Given the description of an element on the screen output the (x, y) to click on. 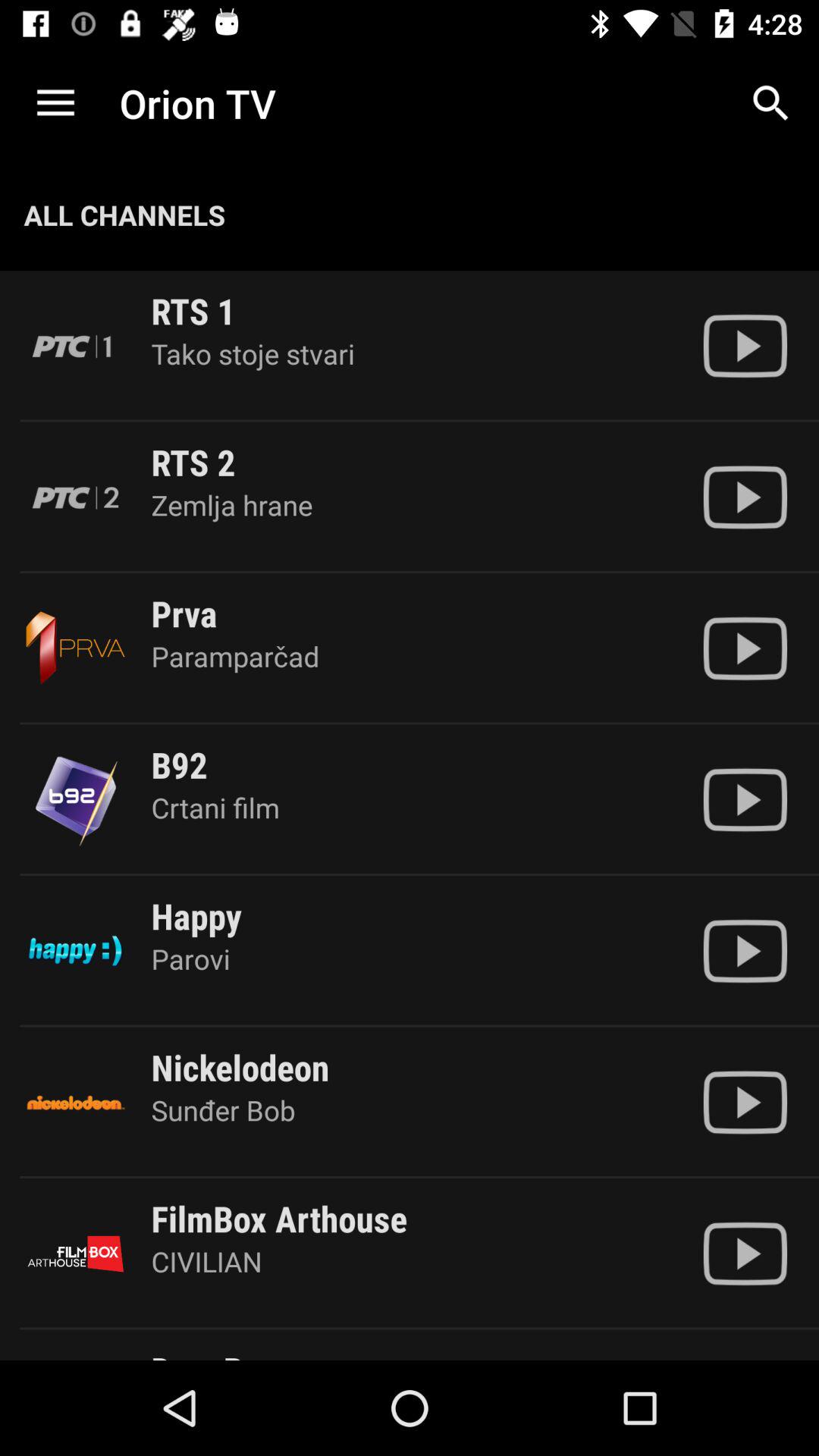
play the prva channel (745, 648)
